Given the description of an element on the screen output the (x, y) to click on. 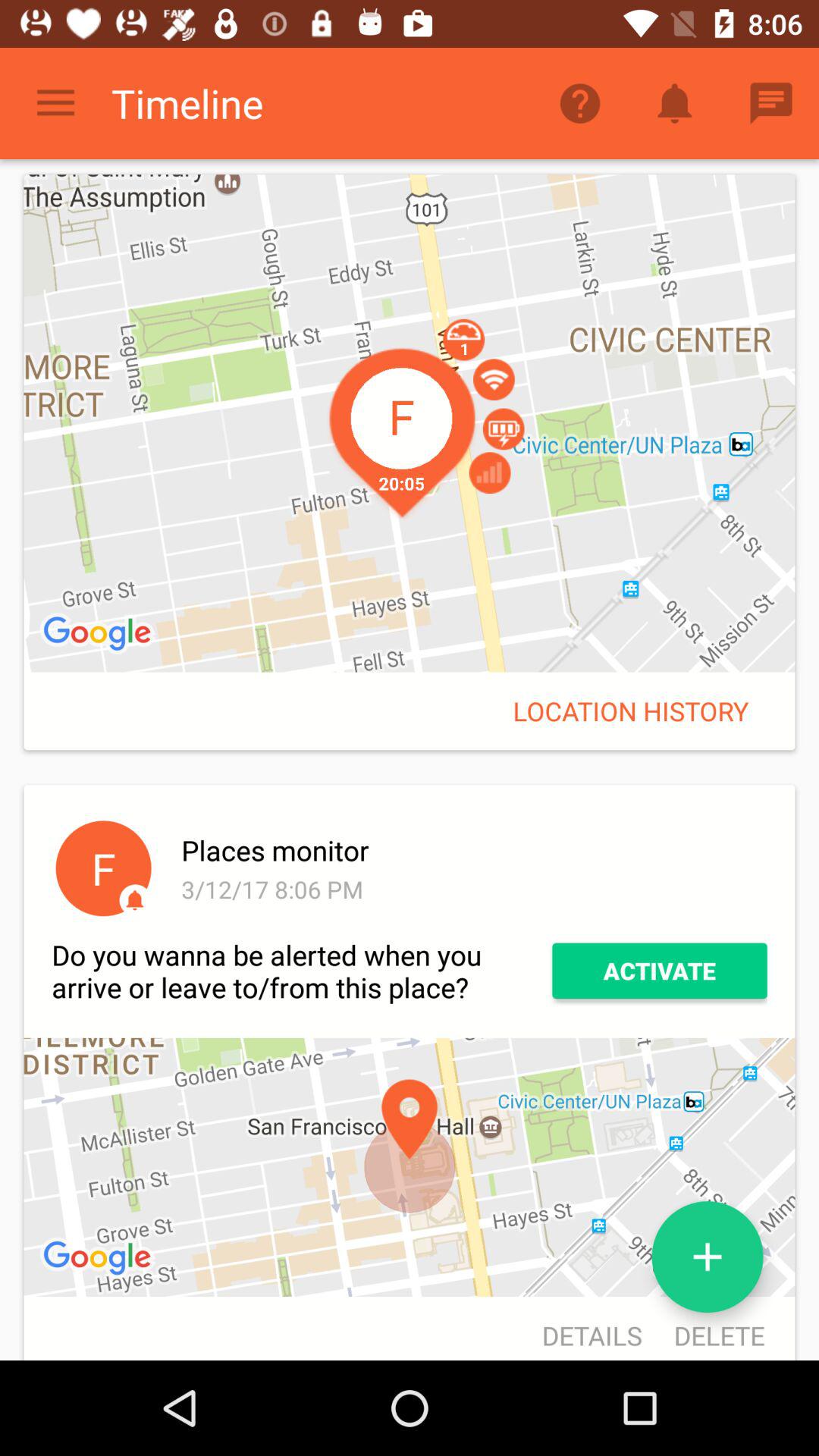
click icon next to timeline (55, 103)
